Given the description of an element on the screen output the (x, y) to click on. 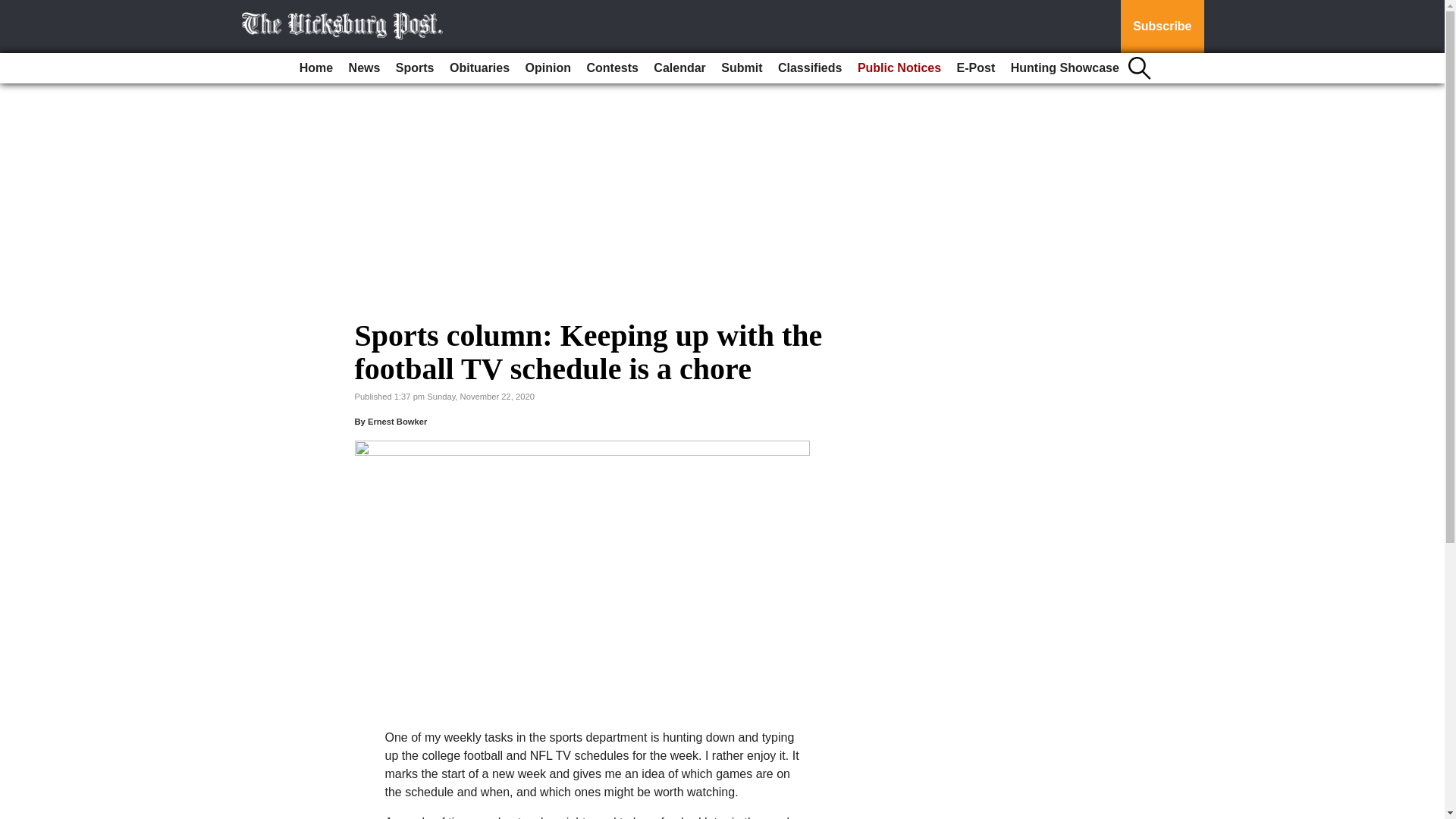
News (364, 68)
Submit (741, 68)
Go (13, 9)
Calendar (679, 68)
Ernest Bowker (397, 420)
Home (316, 68)
Contests (611, 68)
Hunting Showcase (1064, 68)
Subscribe (1162, 26)
Opinion (547, 68)
